Given the description of an element on the screen output the (x, y) to click on. 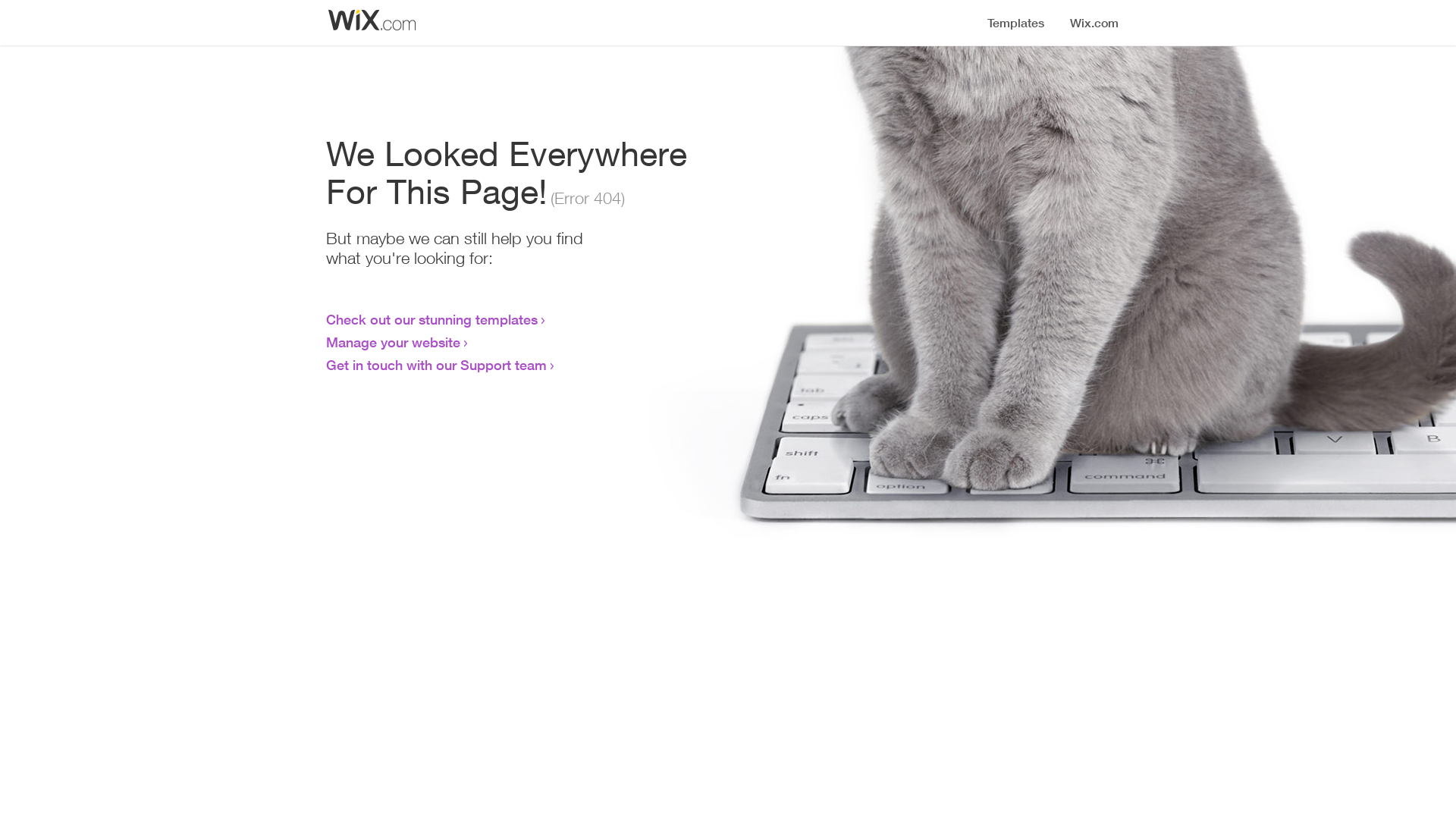
Check out our stunning templates Element type: text (431, 318)
Manage your website Element type: text (393, 341)
Get in touch with our Support team Element type: text (436, 364)
